Given the description of an element on the screen output the (x, y) to click on. 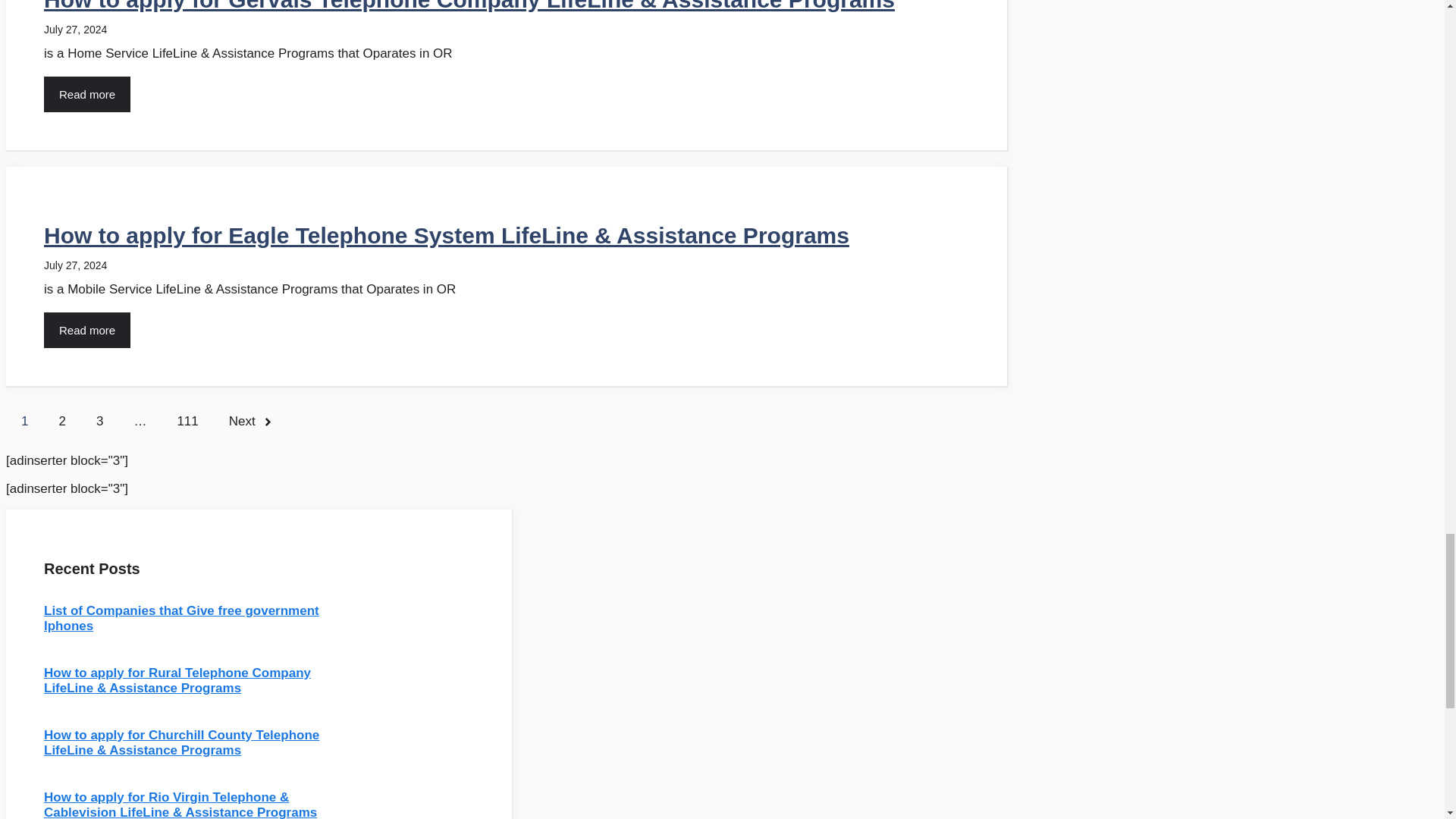
2 (61, 421)
3 (99, 421)
List of Companies that Give free government Iphones (180, 618)
Read more (87, 330)
111 (186, 421)
Read more (87, 94)
Next (251, 421)
